Given the description of an element on the screen output the (x, y) to click on. 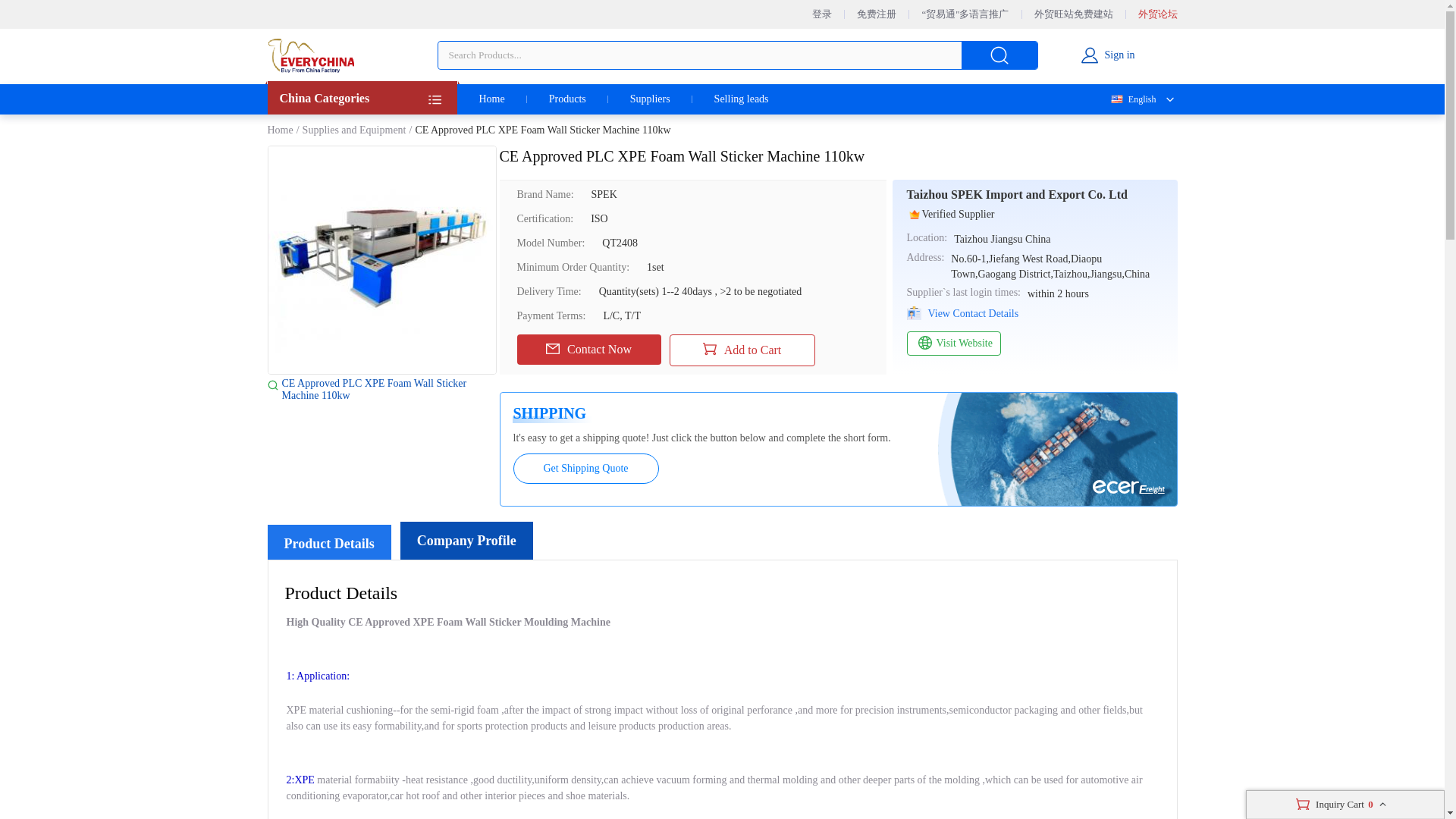
everychina logo (309, 54)
Sign in (1107, 55)
